Given the description of an element on the screen output the (x, y) to click on. 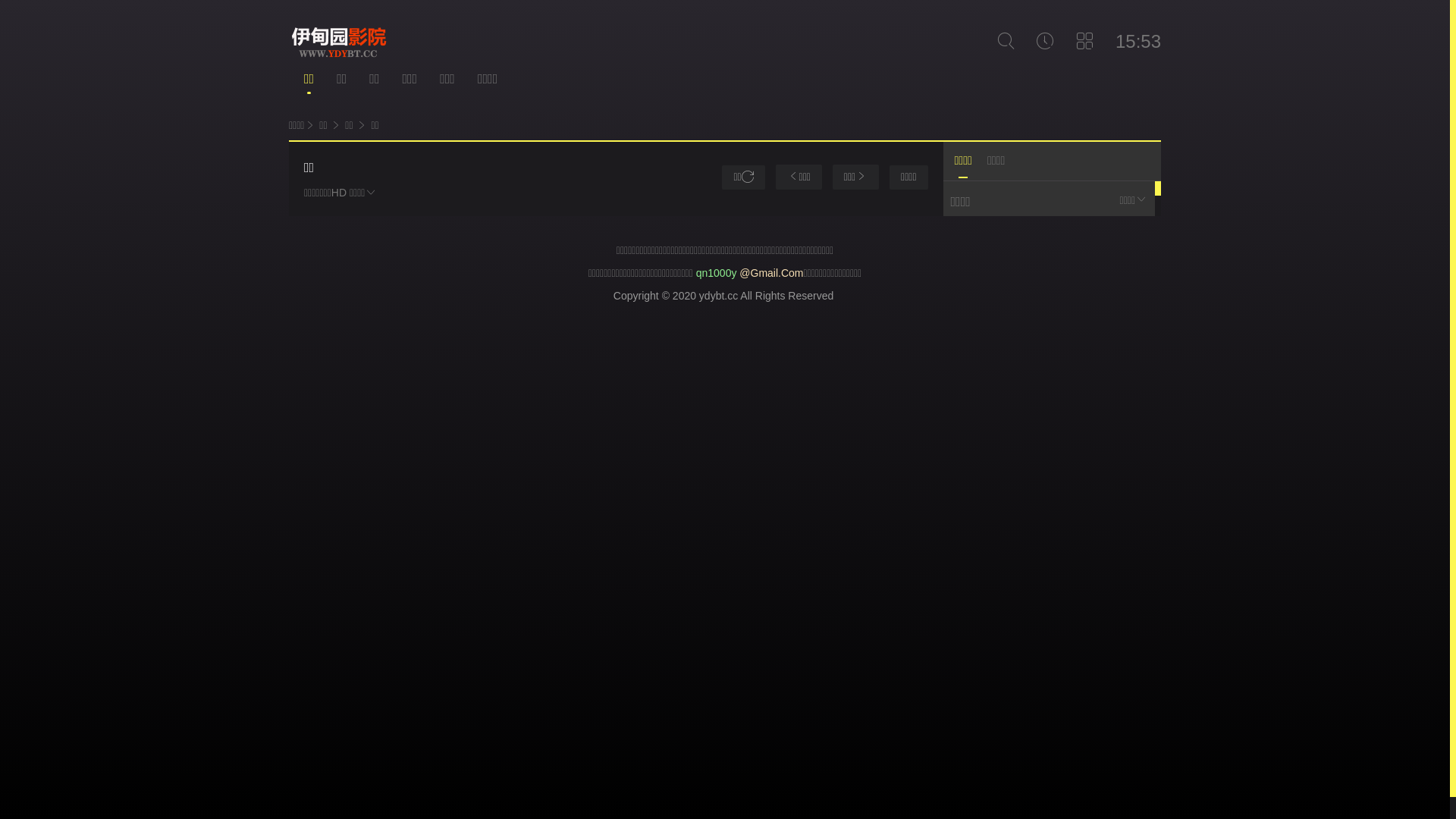
HD Element type: text (964, 237)
